Given the description of an element on the screen output the (x, y) to click on. 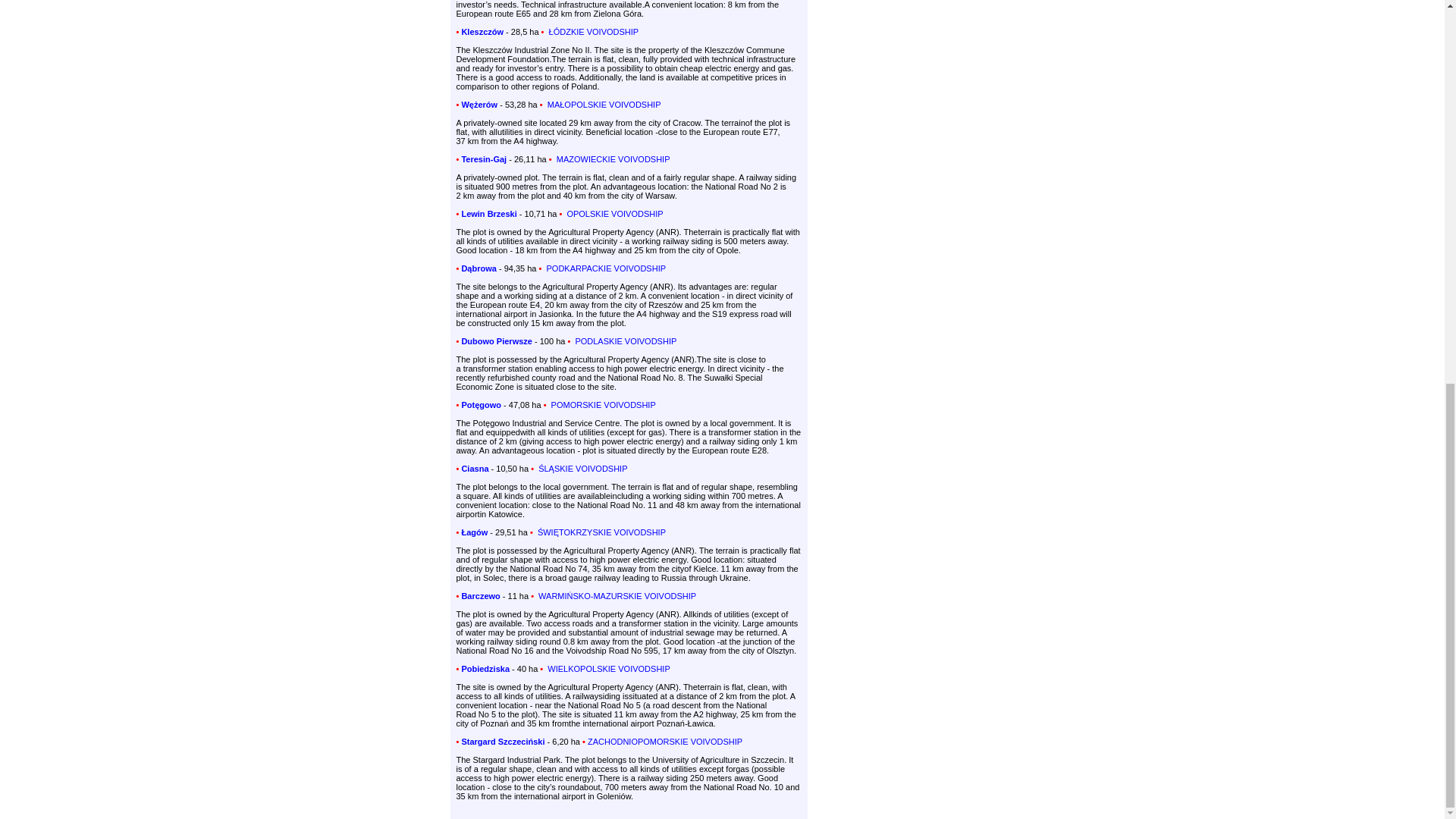
Ciasna (474, 468)
 PODLASKIE VOIVODSHIP (624, 340)
 MAZOWIECKIE VOIVODSHIP (611, 158)
Teresin-Gaj (483, 158)
 PODKARPACKIE VOIVODSHIP (604, 267)
 OPOLSKIE VOIVODSHIP (613, 213)
Dubowo Pierwsze (496, 340)
Lewin Brzeski (488, 213)
 POMORSKIE VOIVODSHIP (602, 404)
